Given the description of an element on the screen output the (x, y) to click on. 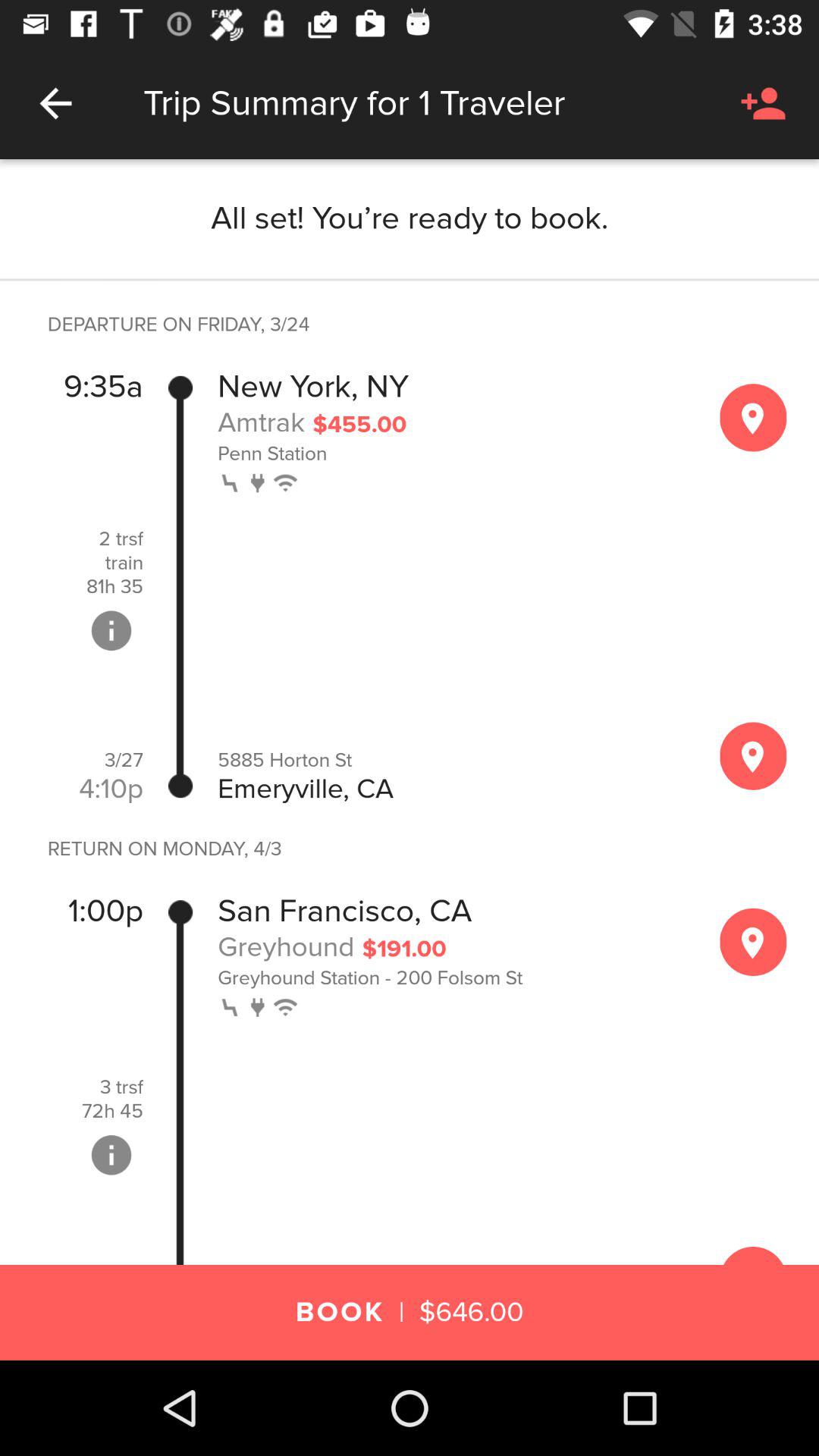
launch the item below departure on friday item (103, 386)
